Given the description of an element on the screen output the (x, y) to click on. 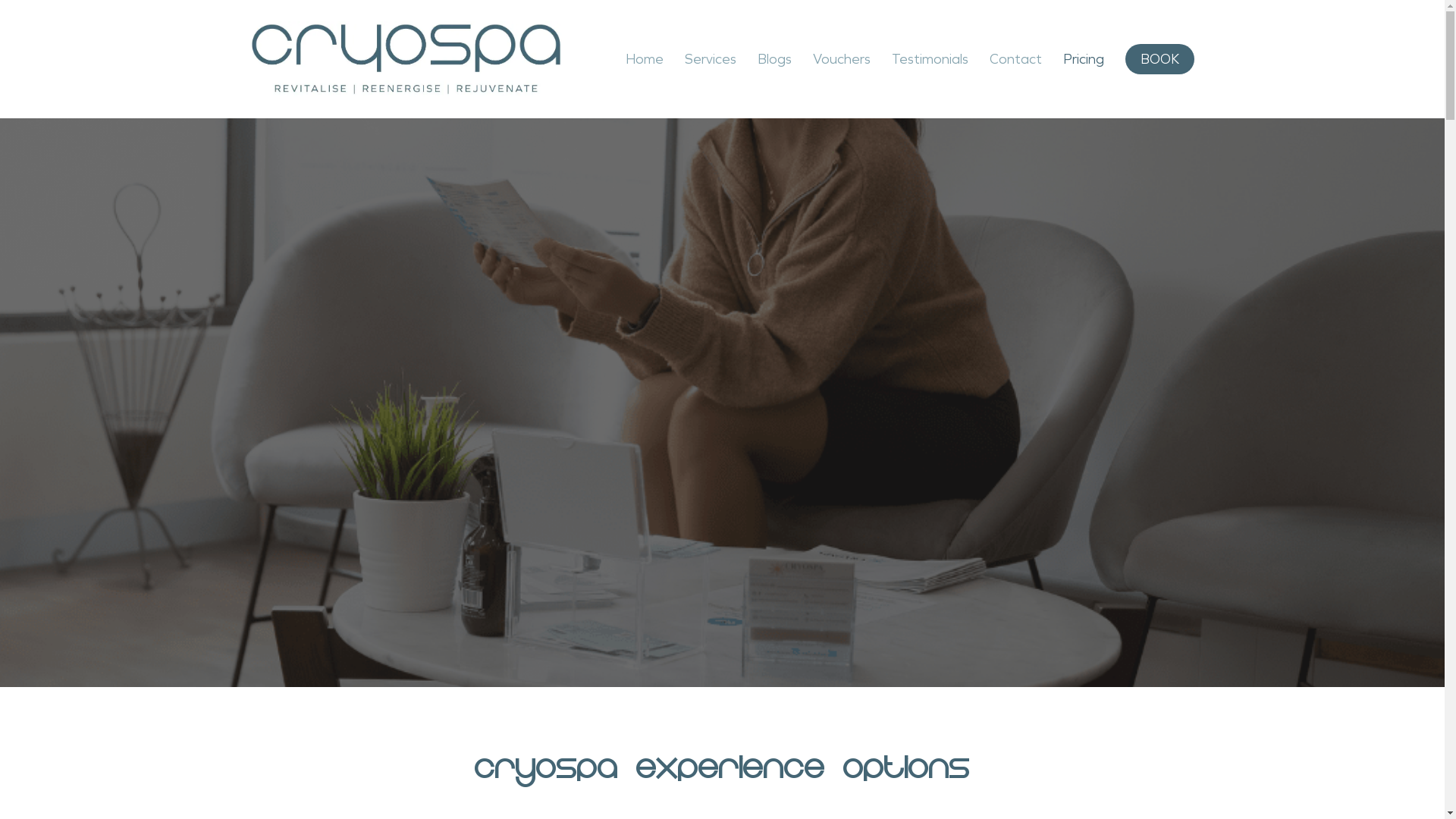
Contact Element type: text (1015, 59)
Home Element type: text (644, 59)
Blogs Element type: text (774, 59)
Vouchers Element type: text (841, 59)
Pricing Element type: text (1083, 59)
Services Element type: text (710, 59)
Testimonials Element type: text (930, 59)
BOOK Element type: text (1159, 59)
